Given the description of an element on the screen output the (x, y) to click on. 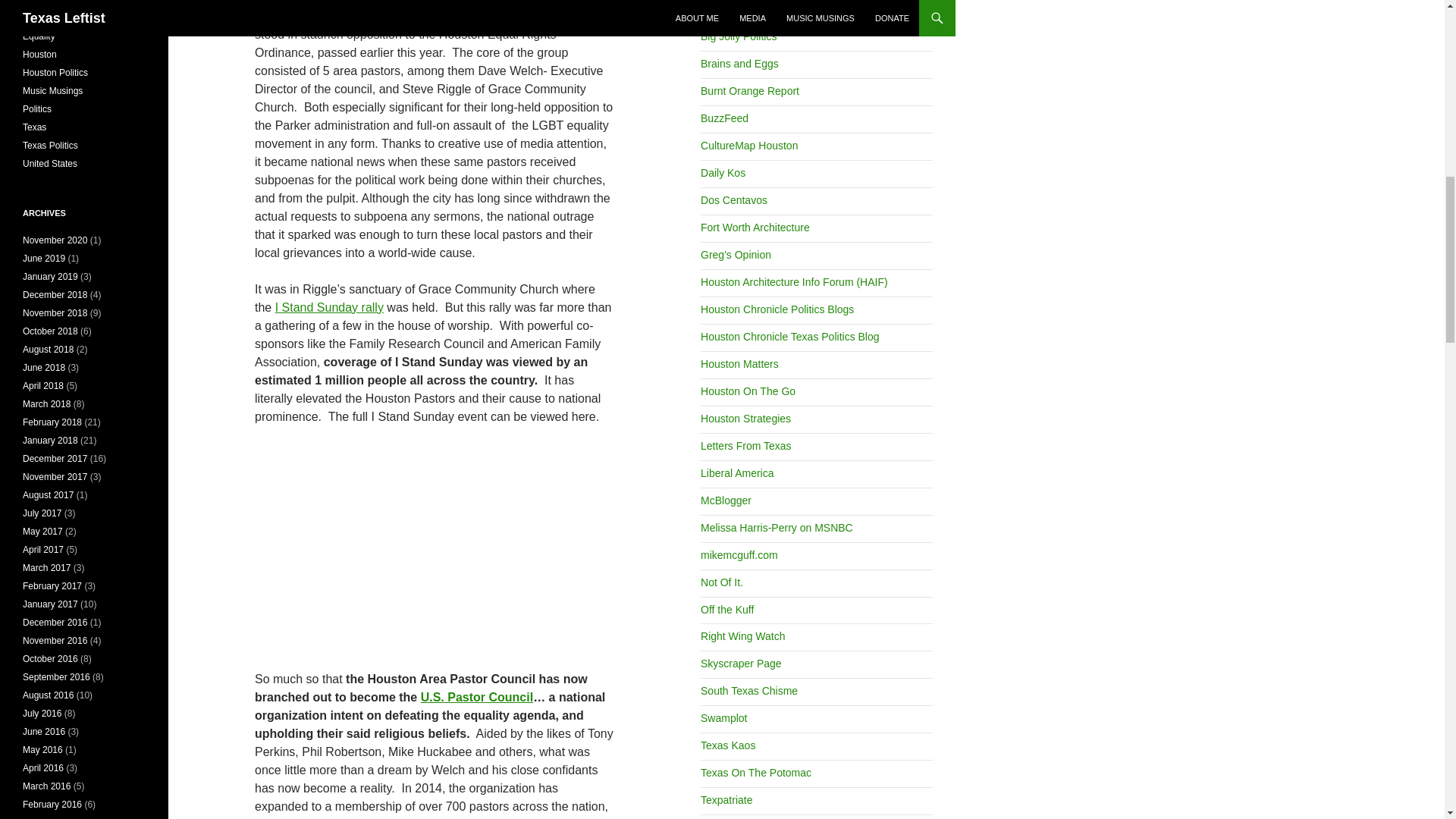
U.S. Pastor Council (476, 697)
I Stand Sunday rally (329, 307)
